Given the description of an element on the screen output the (x, y) to click on. 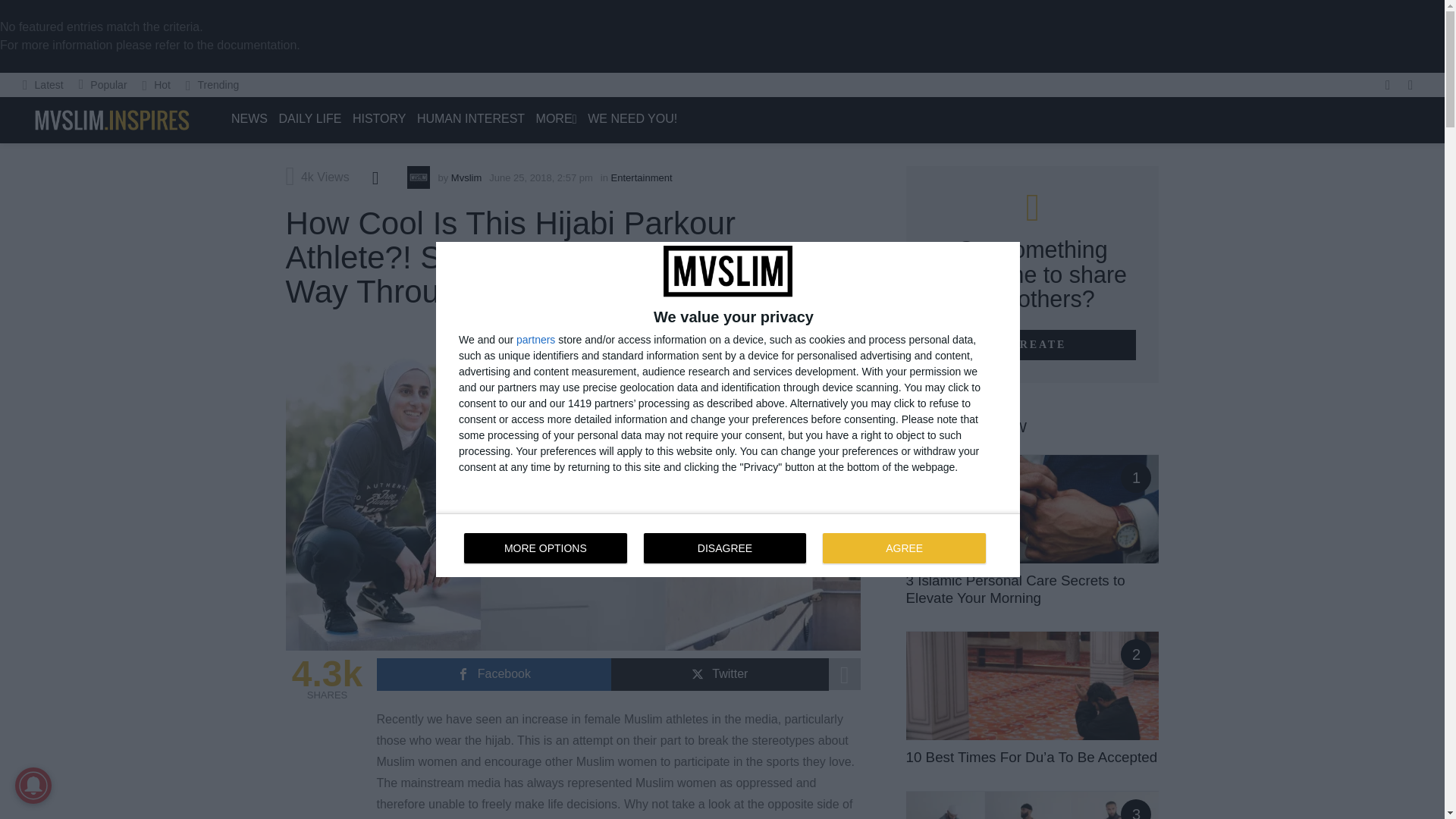
DAILY LIFE (310, 118)
MORE OPTIONS (545, 548)
SEARCH (1410, 84)
Facebook (493, 674)
Hot (156, 84)
Follow us (1387, 84)
FOLLOW US (1387, 84)
partners (535, 339)
Posts by Mvslim (466, 177)
Search (1201, 161)
